Given the description of an element on the screen output the (x, y) to click on. 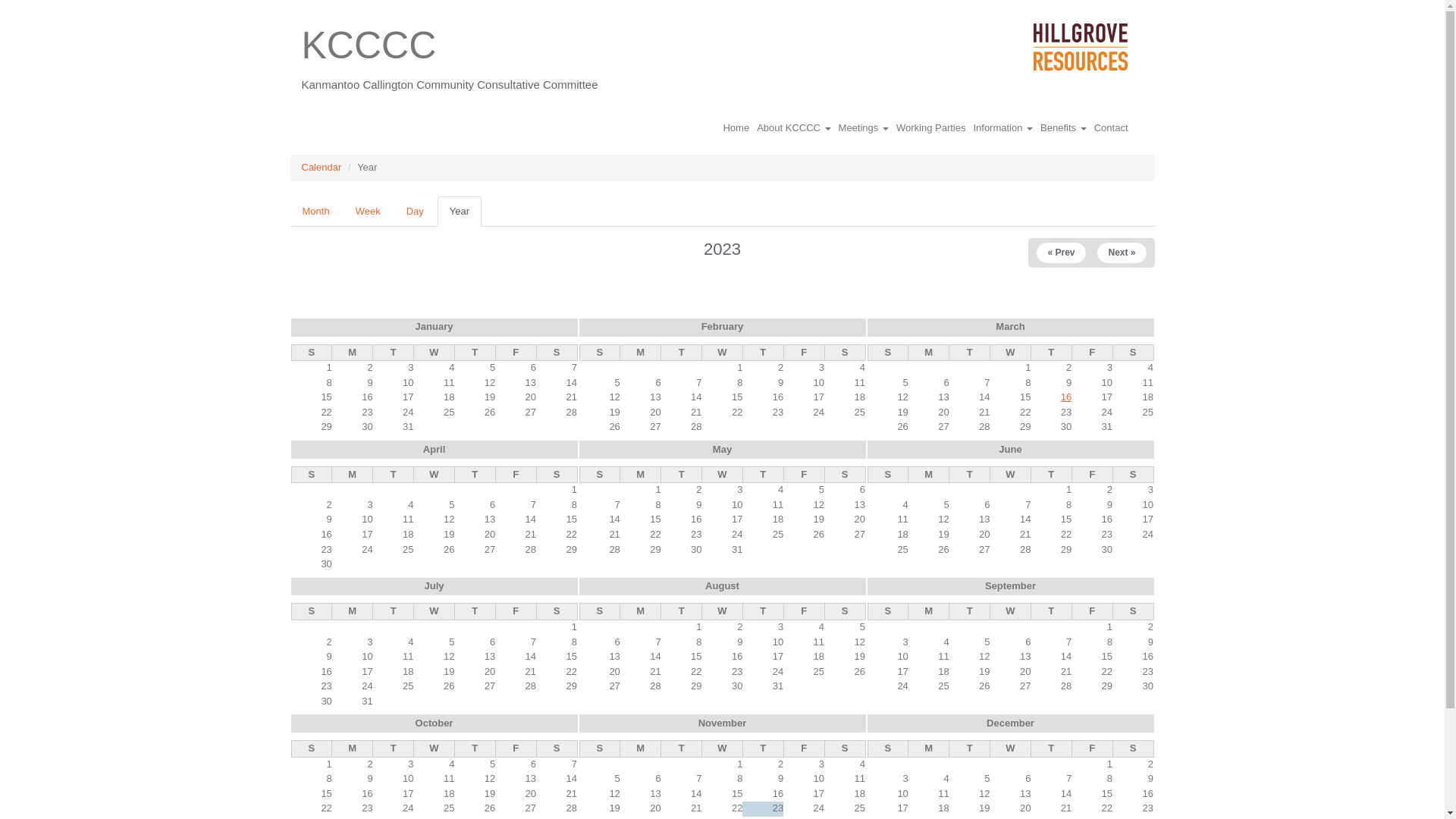
16 Element type: text (1065, 396)
July Element type: text (433, 585)
January Element type: text (434, 326)
Month Element type: text (315, 211)
Home Element type: text (735, 127)
February Element type: text (722, 326)
Year
(active tab) Element type: text (459, 211)
About KCCCC Element type: text (793, 127)
Working Parties Element type: text (930, 127)
Meetings Element type: text (863, 127)
November Element type: text (722, 722)
Week Element type: text (367, 211)
Calendar Element type: text (321, 166)
Contact Element type: text (1111, 127)
March Element type: text (1009, 326)
October Element type: text (434, 722)
Day Element type: text (415, 211)
December Element type: text (1010, 722)
April Element type: text (434, 449)
Benefits Element type: text (1063, 127)
May Element type: text (721, 449)
June Element type: text (1009, 449)
Skip to main content Element type: text (0, 15)
September Element type: text (1010, 585)
Information Element type: text (1002, 127)
August Element type: text (722, 585)
